Given the description of an element on the screen output the (x, y) to click on. 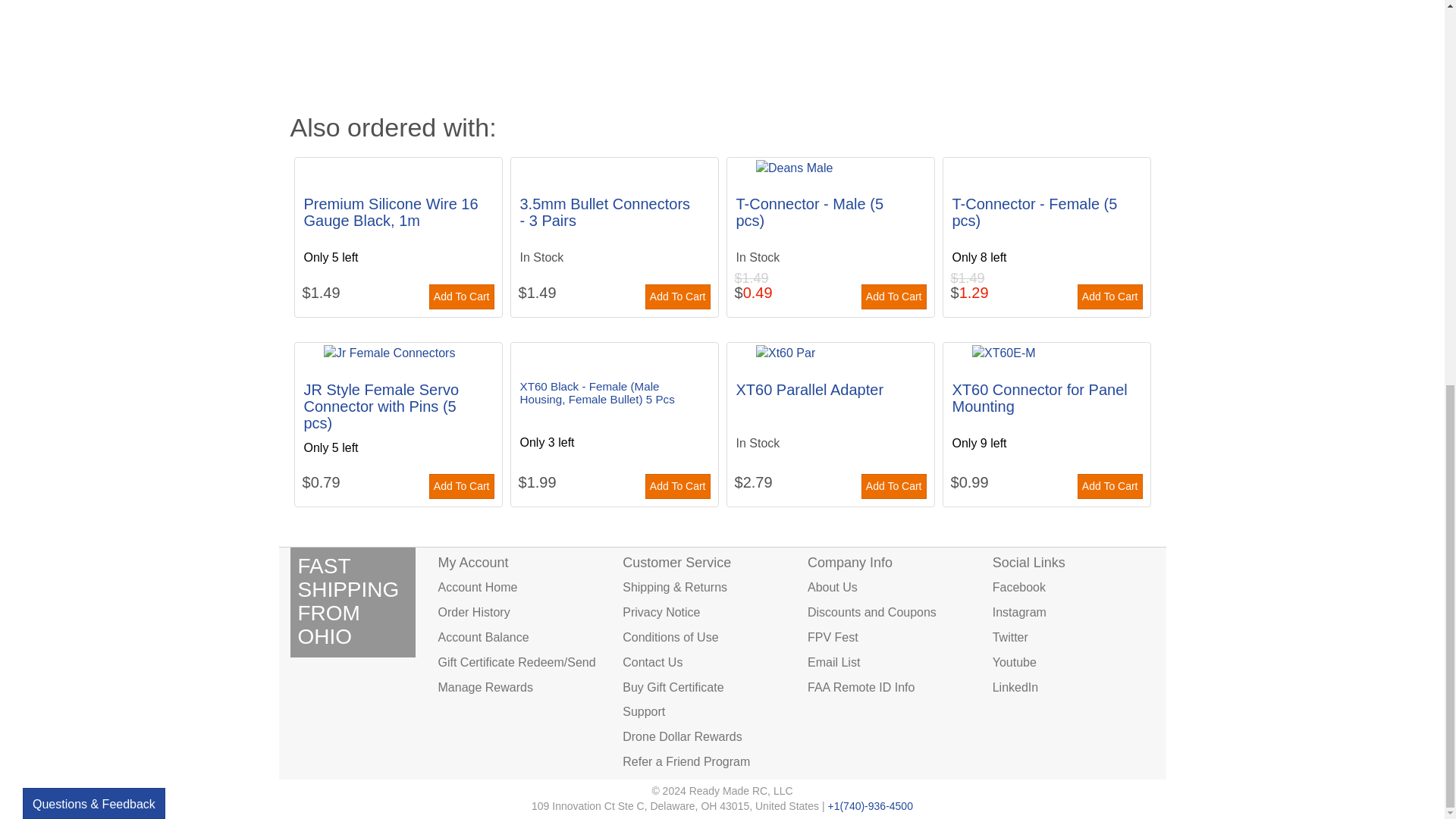
Jr Female Connectors (397, 353)
Deans Male (829, 168)
